Given the description of an element on the screen output the (x, y) to click on. 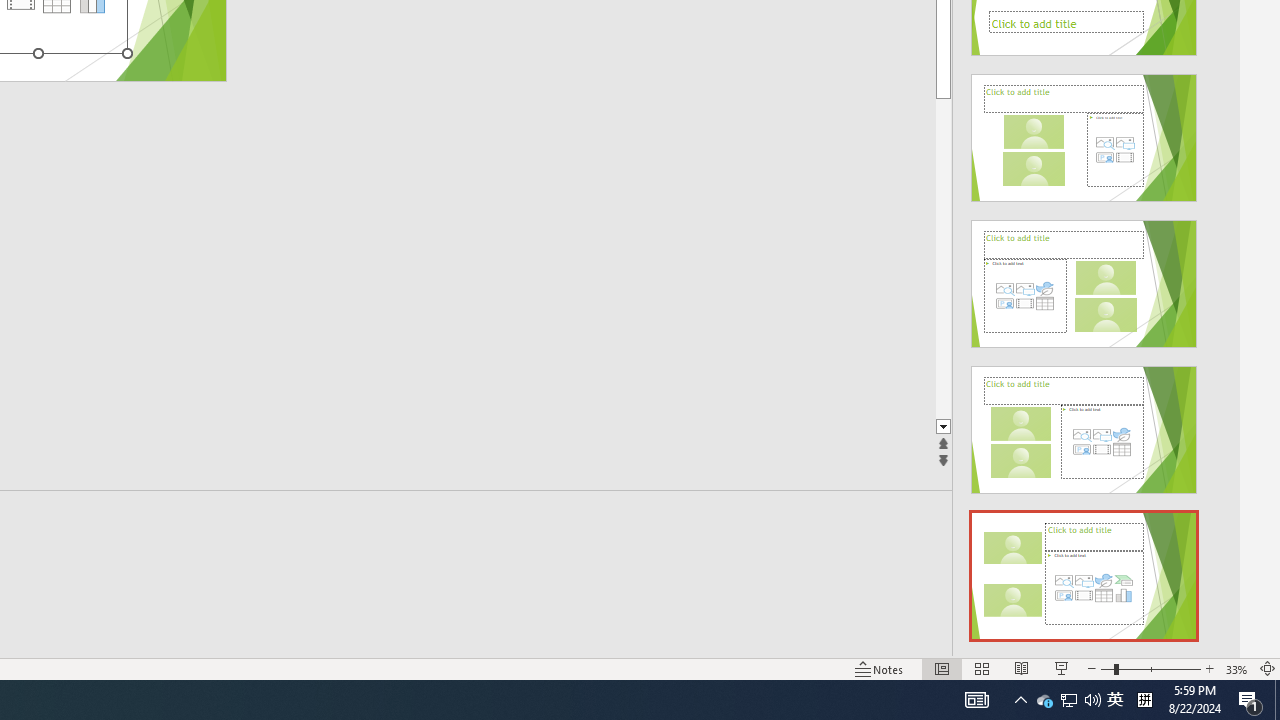
Zoom 33% (1236, 668)
